Given the description of an element on the screen output the (x, y) to click on. 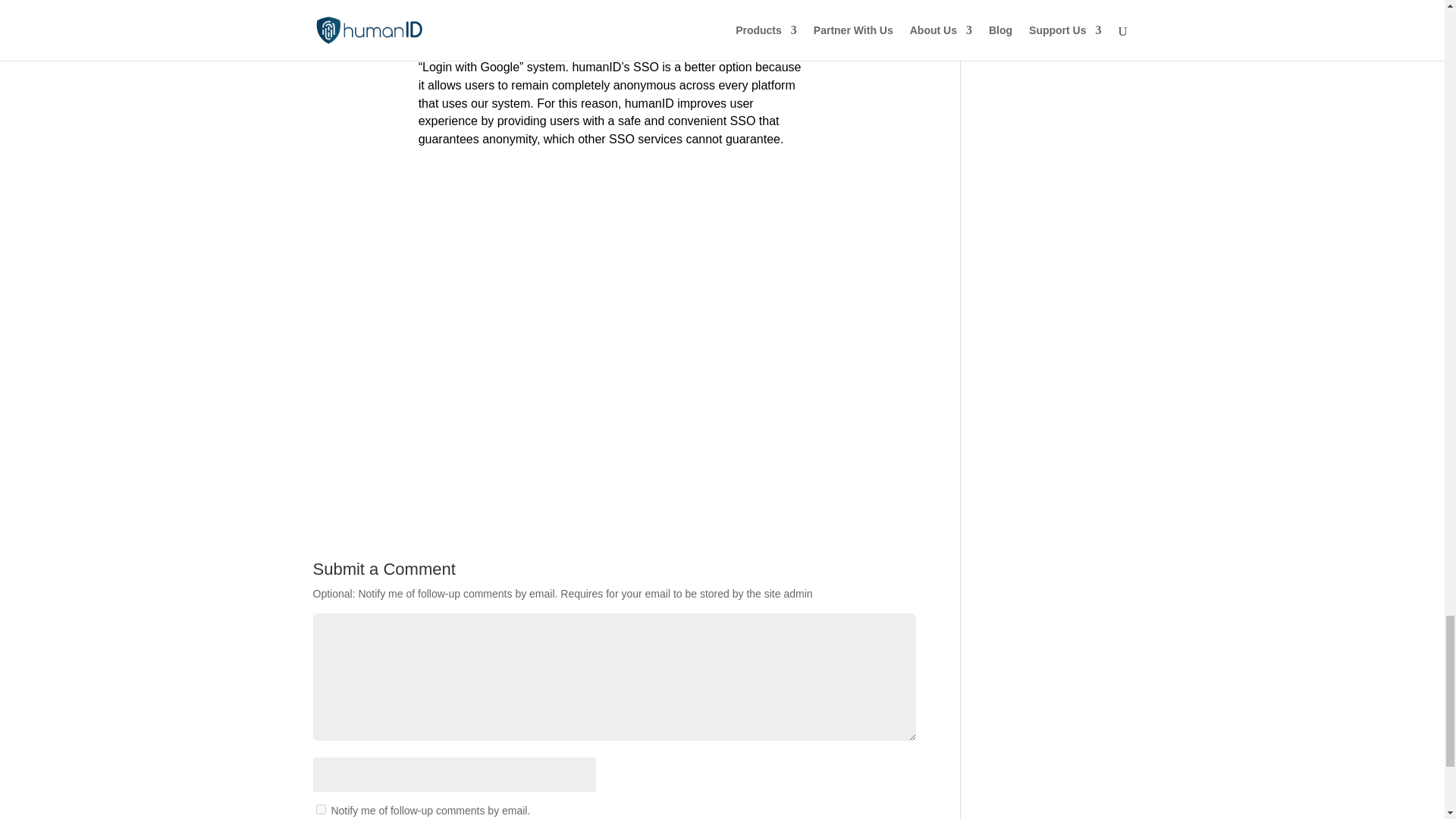
Picture4 (613, 318)
subscribe (319, 809)
